Given the description of an element on the screen output the (x, y) to click on. 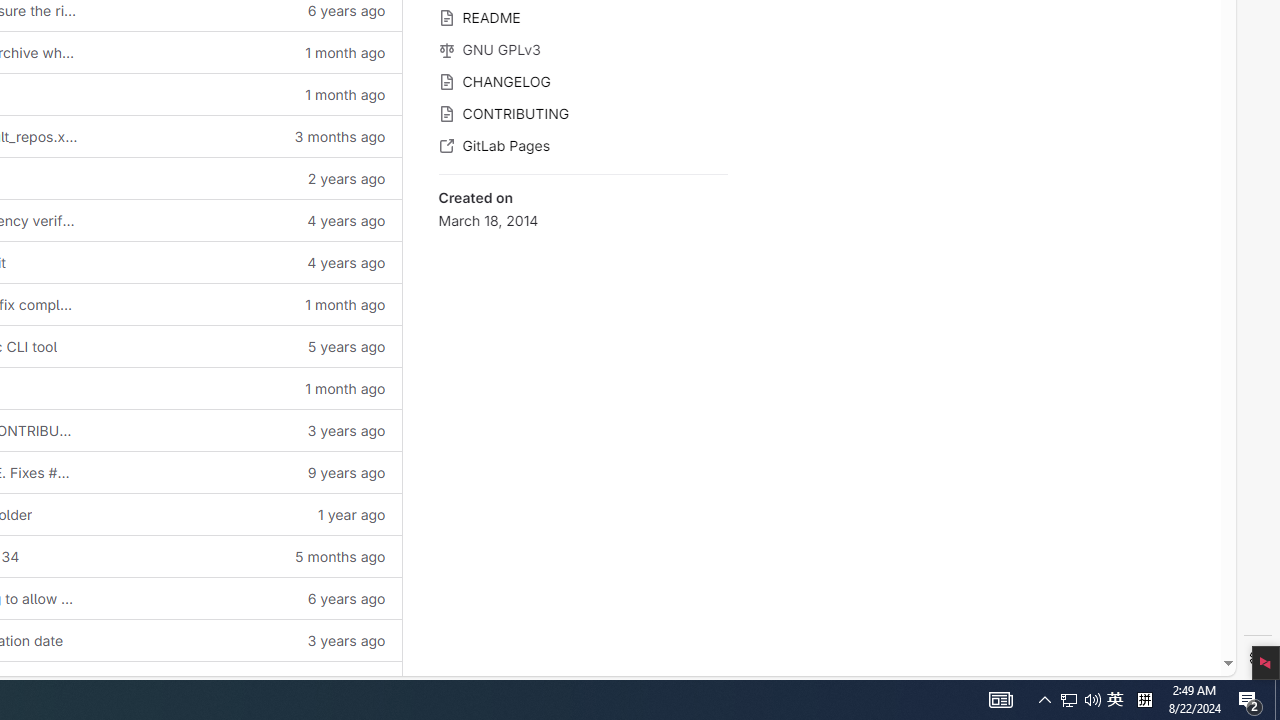
CONTRIBUTING (582, 111)
GNU GPLv3 (582, 48)
README (582, 16)
GitLab Pages (582, 144)
9 years ago (247, 471)
Class: s16 icon gl-mr-3 gl-text-gray-500 (445, 146)
1 year ago (247, 682)
